Given the description of an element on the screen output the (x, y) to click on. 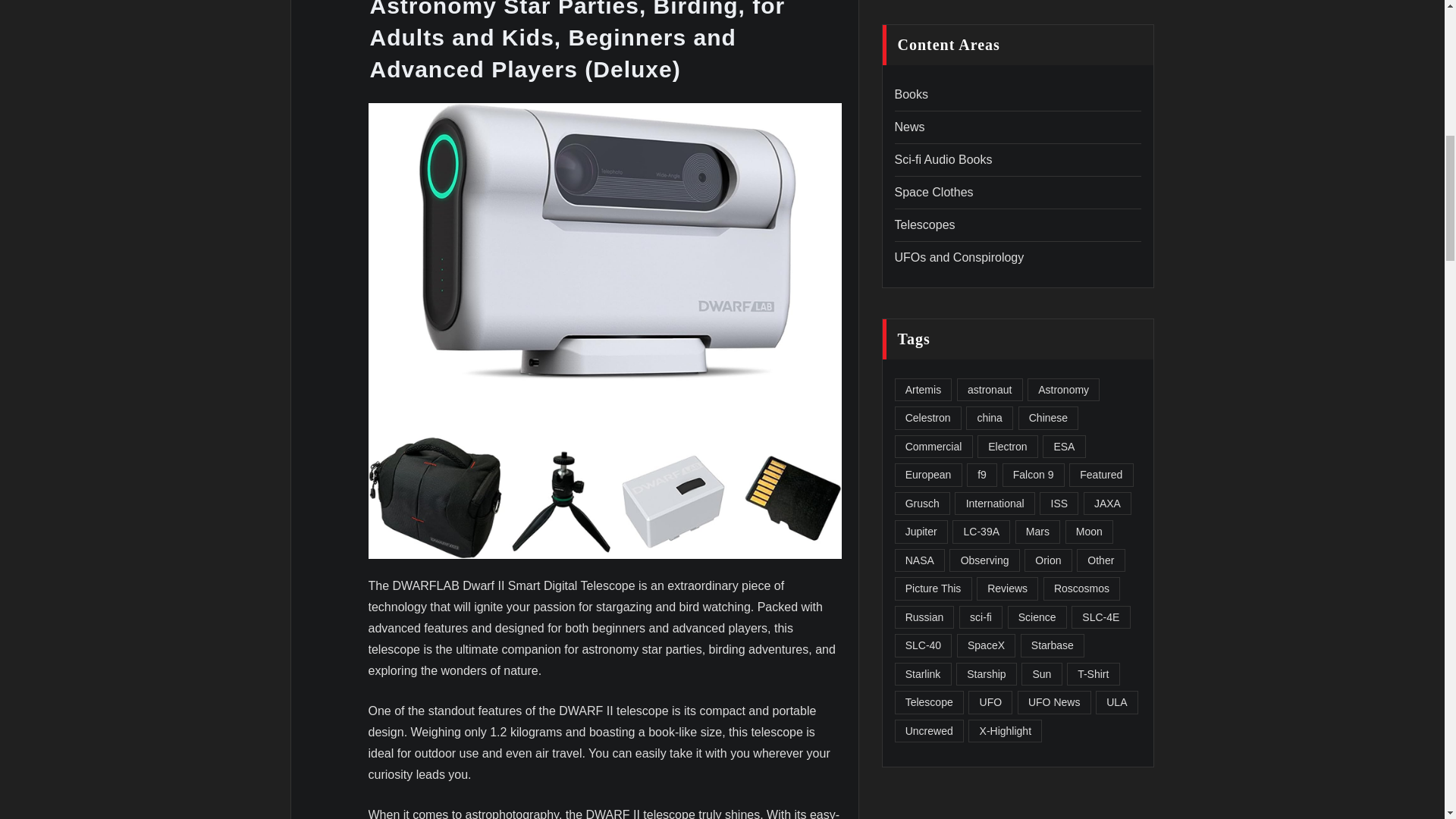
astronaut (989, 390)
Books (911, 93)
Grusch (922, 503)
JAXA (1107, 503)
International (994, 503)
ISS (1058, 503)
Moon (1089, 531)
Astronomy (1063, 390)
Chinese (1047, 417)
NASA (919, 560)
Artemis (923, 390)
f9 (981, 474)
Falcon 9 (1033, 474)
European (928, 474)
Commercial (933, 446)
